Given the description of an element on the screen output the (x, y) to click on. 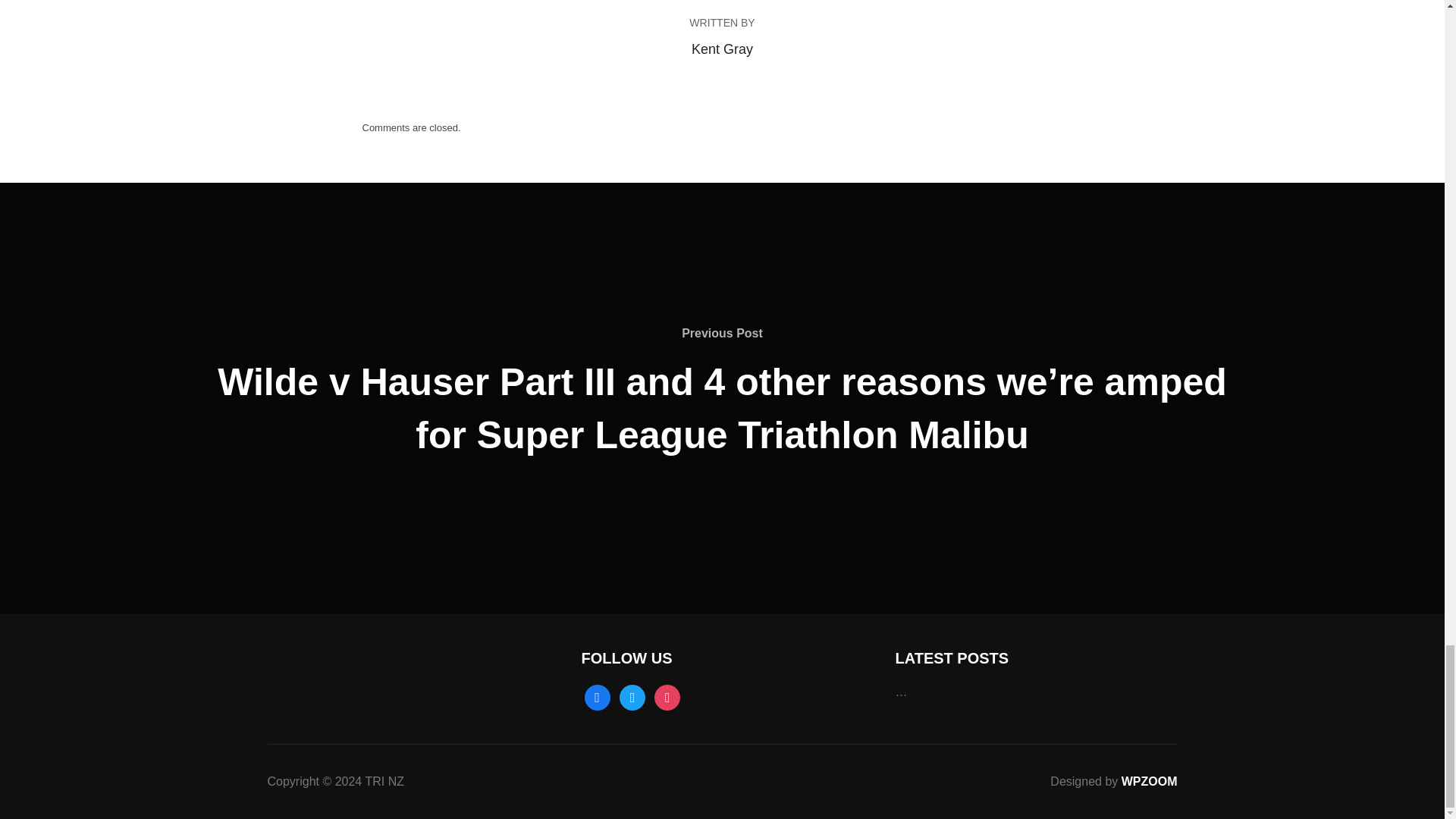
Twitter (632, 697)
Facebook (596, 697)
Posts by Kent Gray (721, 48)
